Given the description of an element on the screen output the (x, y) to click on. 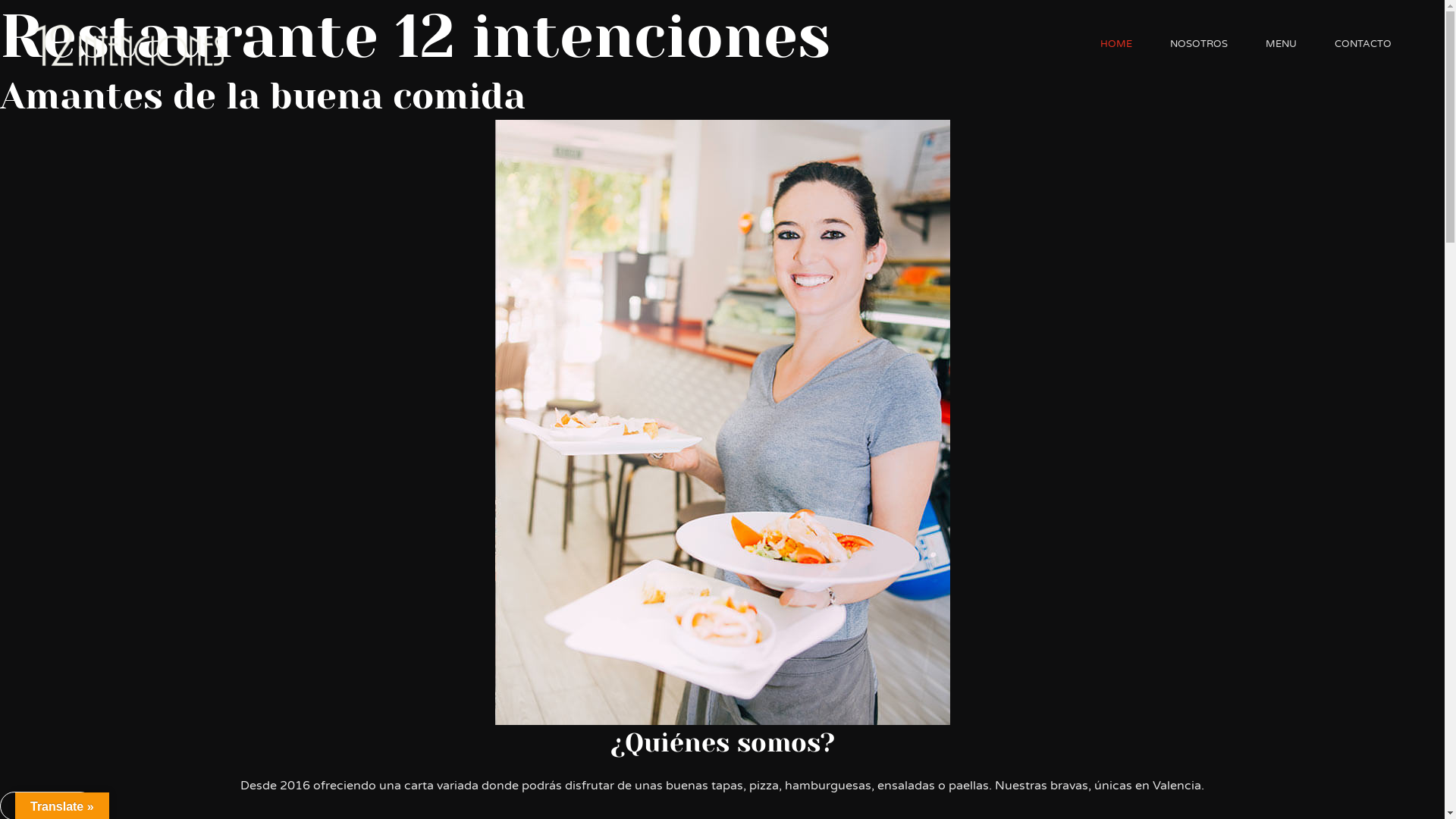
CONTACTO Element type: text (1362, 43)
HOME Element type: text (1116, 43)
MENU Element type: text (1280, 43)
NOSOTROS Element type: text (1198, 43)
